Given the description of an element on the screen output the (x, y) to click on. 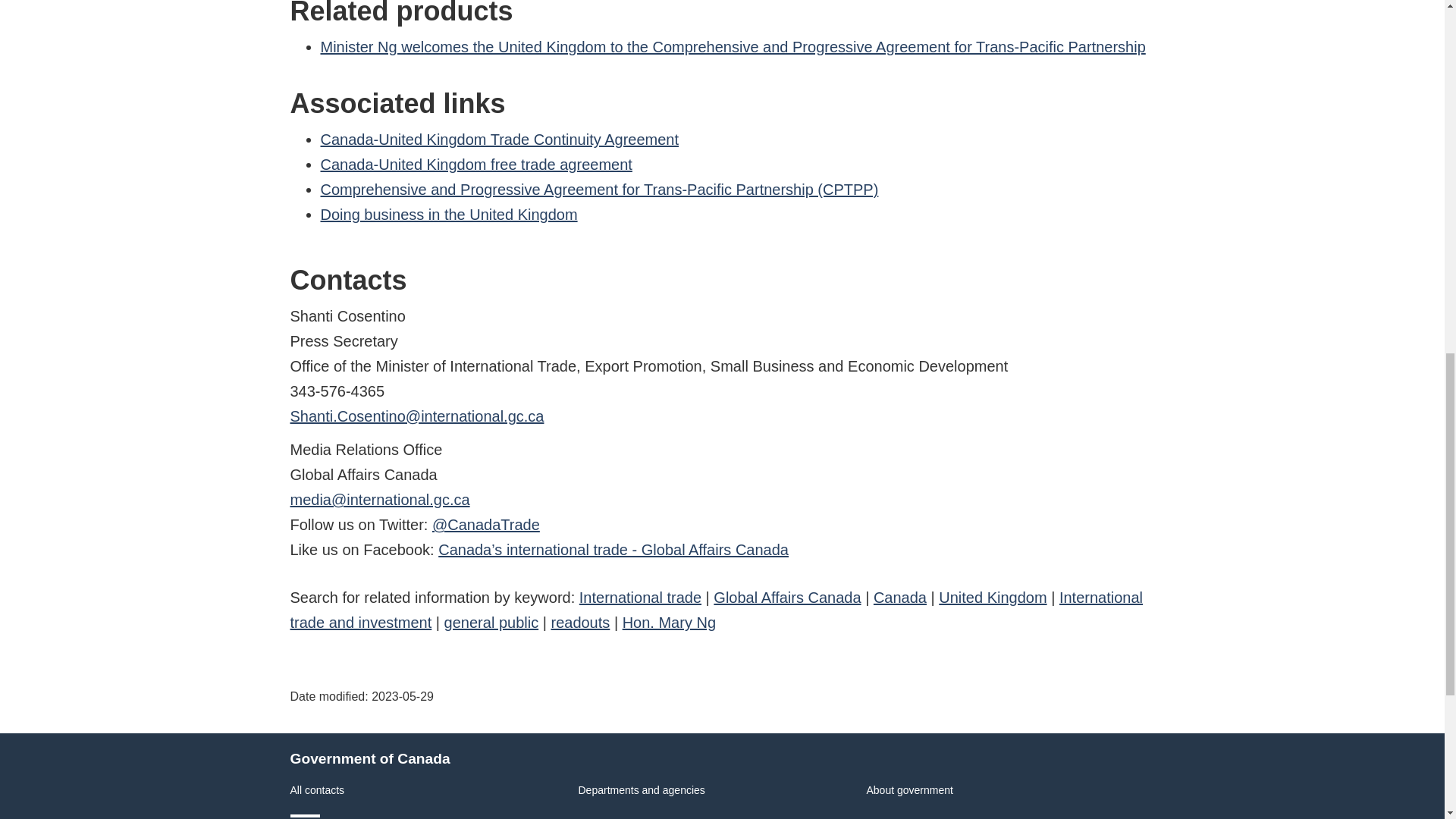
Doing business in the United Kingdom (448, 214)
readouts (580, 622)
Canada-United Kingdom Trade Continuity Agreement (499, 139)
Canada-United Kingdom free trade agreement (475, 164)
United Kingdom (992, 597)
general public (491, 622)
International trade and investment (715, 609)
Global Affairs Canada (786, 597)
Canada (899, 597)
